Given the description of an element on the screen output the (x, y) to click on. 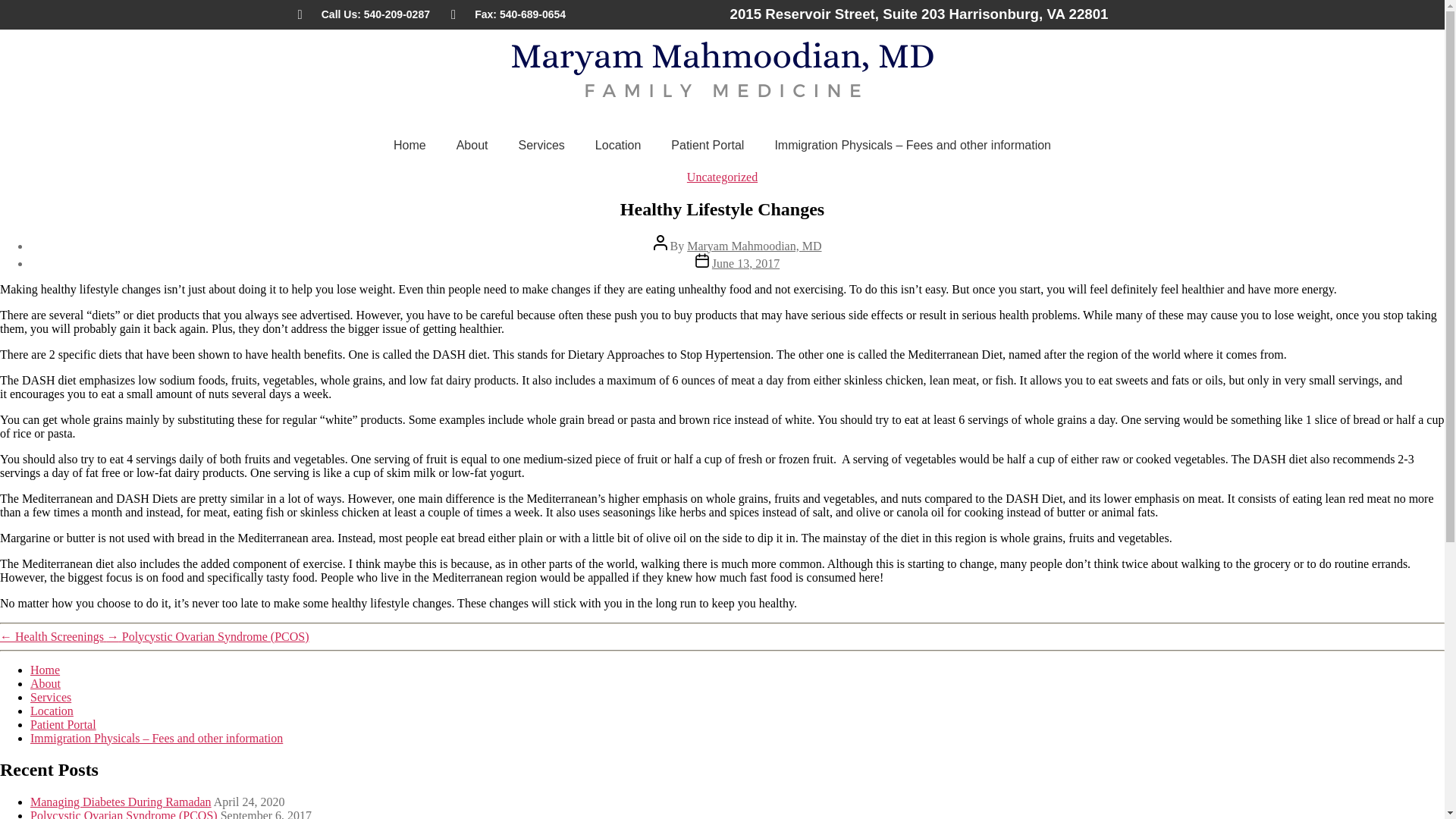
Home (409, 144)
2015 Reservoir Street, Suite 203 Harrisonburg, VA 22801 (918, 13)
Uncategorized (722, 176)
Call Us: 540-209-0287 (363, 14)
Services (540, 144)
Managing Diabetes During Ramadan (120, 801)
June 13, 2017 (744, 263)
Patient Portal (63, 724)
About (45, 683)
Maryam Mahmoodian, MD (754, 245)
Location (52, 710)
About (472, 144)
Fax: 540-689-0654 (508, 14)
Services (50, 697)
Patient Portal (707, 144)
